Given the description of an element on the screen output the (x, y) to click on. 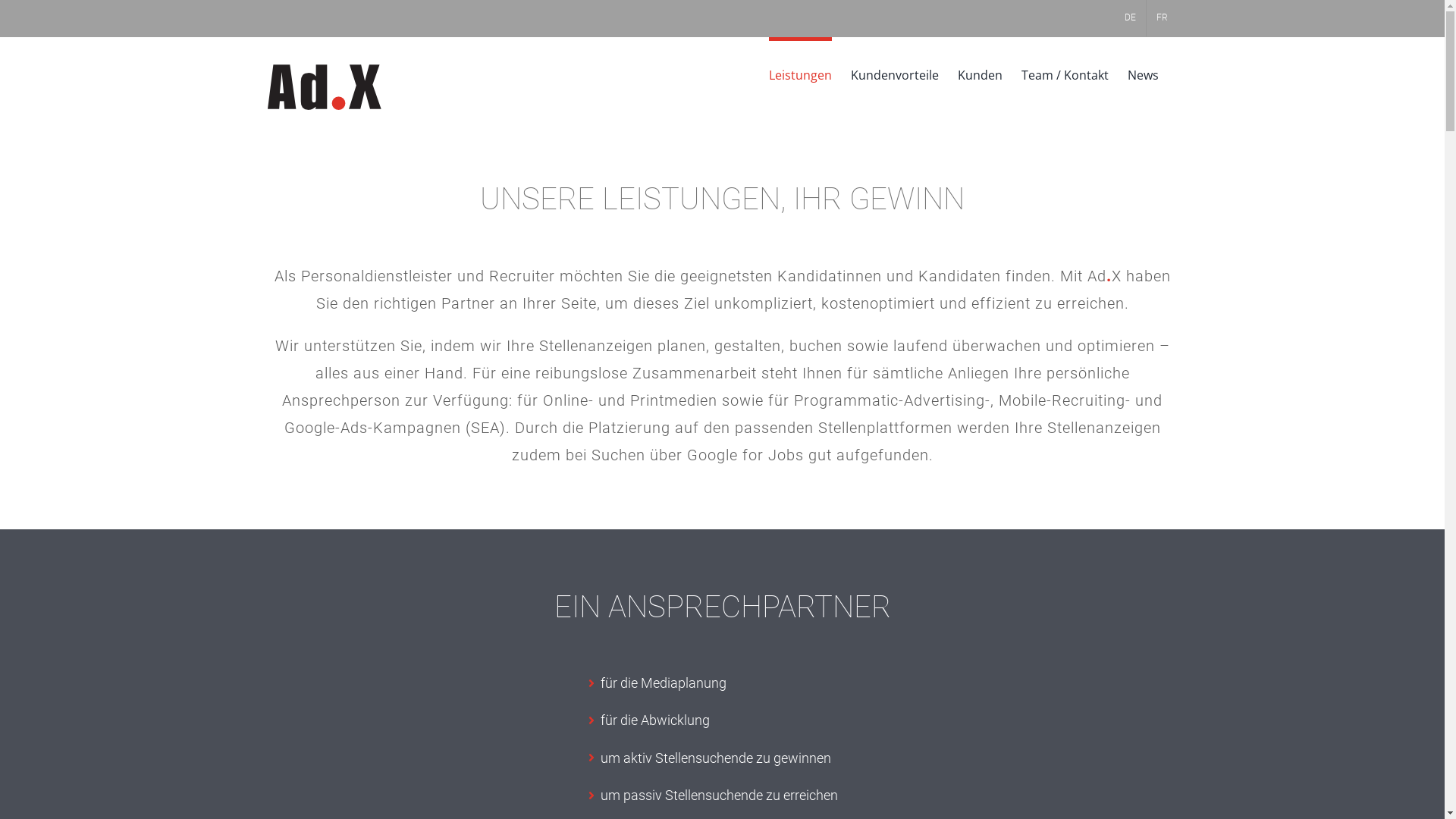
FR Element type: text (1161, 18)
Team / Kontakt Element type: text (1063, 72)
um aktiv Stellensuchende zu gewinnen Element type: text (721, 758)
um passiv Stellensuchende zu erreichen Element type: text (721, 795)
Kundenvorteile Element type: text (894, 72)
DE Element type: text (1129, 18)
News Element type: text (1141, 72)
Leistungen Element type: text (799, 72)
Kunden Element type: text (979, 72)
